Given the description of an element on the screen output the (x, y) to click on. 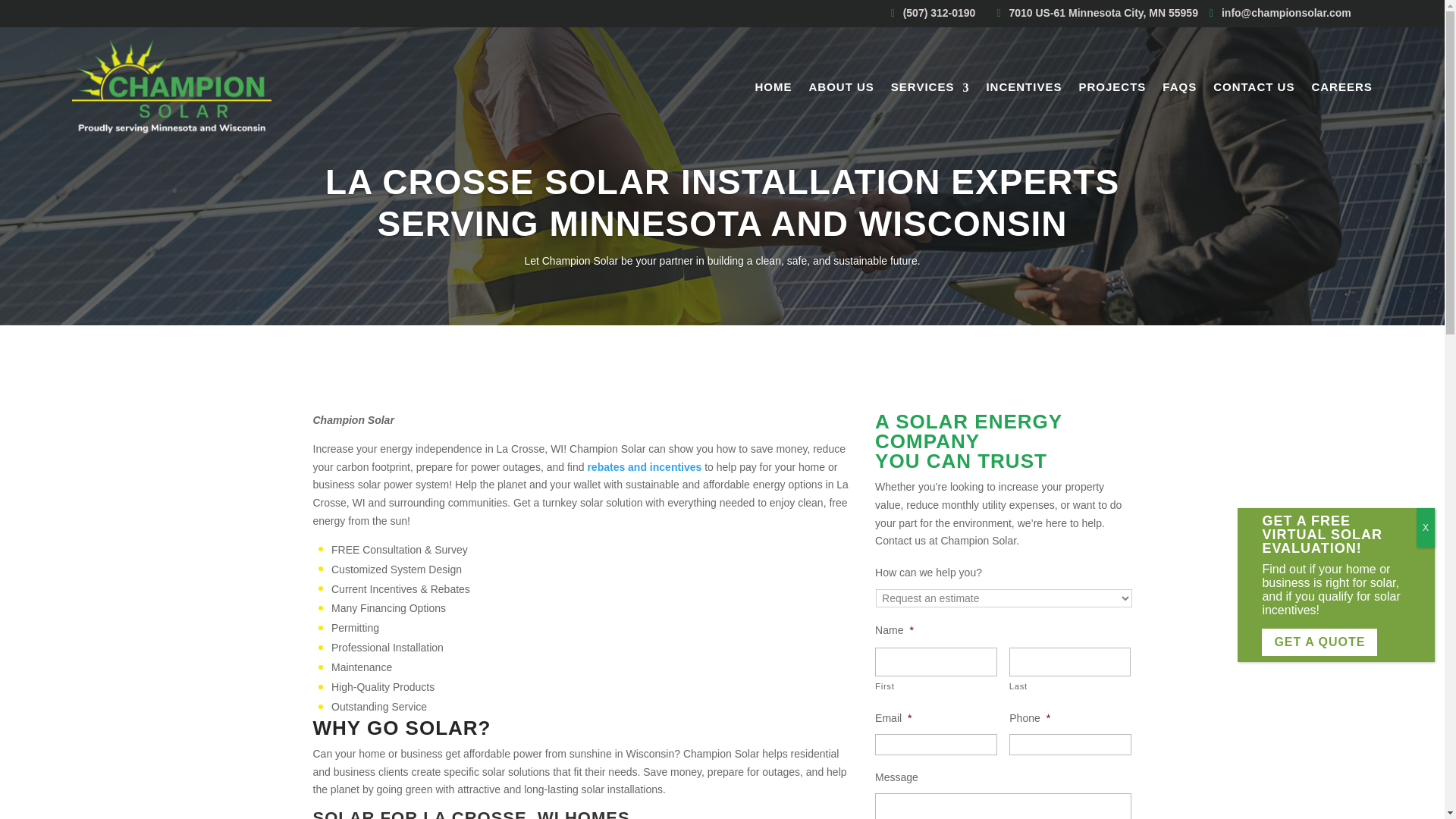
rebates and incentives (643, 467)
7010 US-61 Minnesota City, MN 55959 (1103, 12)
